Given the description of an element on the screen output the (x, y) to click on. 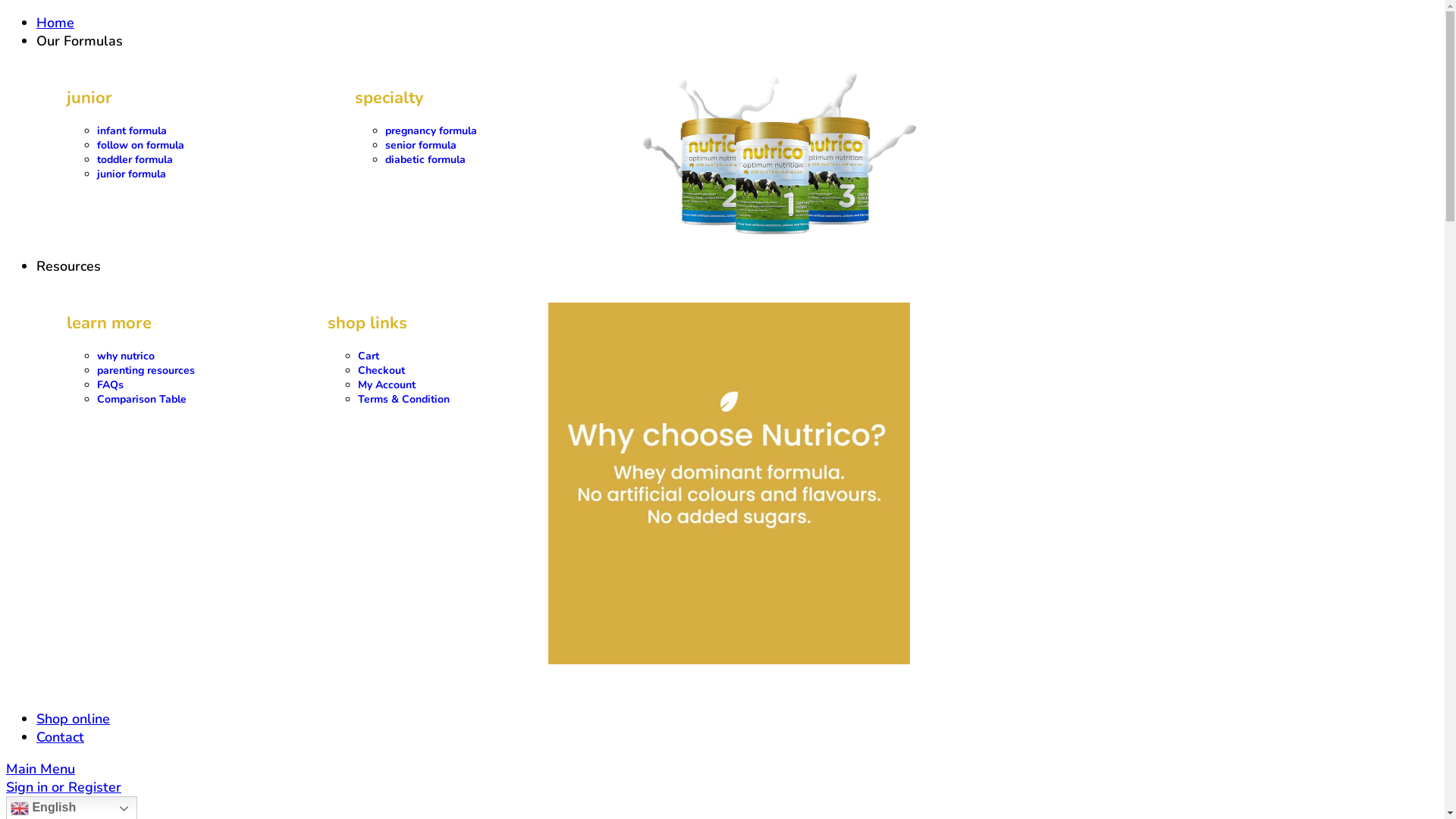
Our Formulas Element type: text (79, 40)
Shop online Element type: text (72, 718)
My Account Element type: text (386, 384)
parenting resources Element type: text (145, 369)
infant formula Element type: text (131, 129)
Sign in or Register Element type: text (63, 787)
Cart Element type: text (368, 355)
Checkout Element type: text (380, 369)
pregnancy formula Element type: text (430, 129)
why nutrico Element type: text (125, 355)
Resources Element type: text (68, 266)
Main Menu Element type: text (40, 768)
follow on formula Element type: text (140, 145)
Contact Element type: text (60, 737)
junior formula Element type: text (131, 173)
senior formula Element type: text (420, 145)
FAQs Element type: text (110, 384)
Terms & Condition Element type: text (403, 398)
Comparison Table Element type: text (141, 398)
toddler formula Element type: text (134, 158)
Home Element type: text (55, 22)
diabetic formula Element type: text (425, 158)
